Given the description of an element on the screen output the (x, y) to click on. 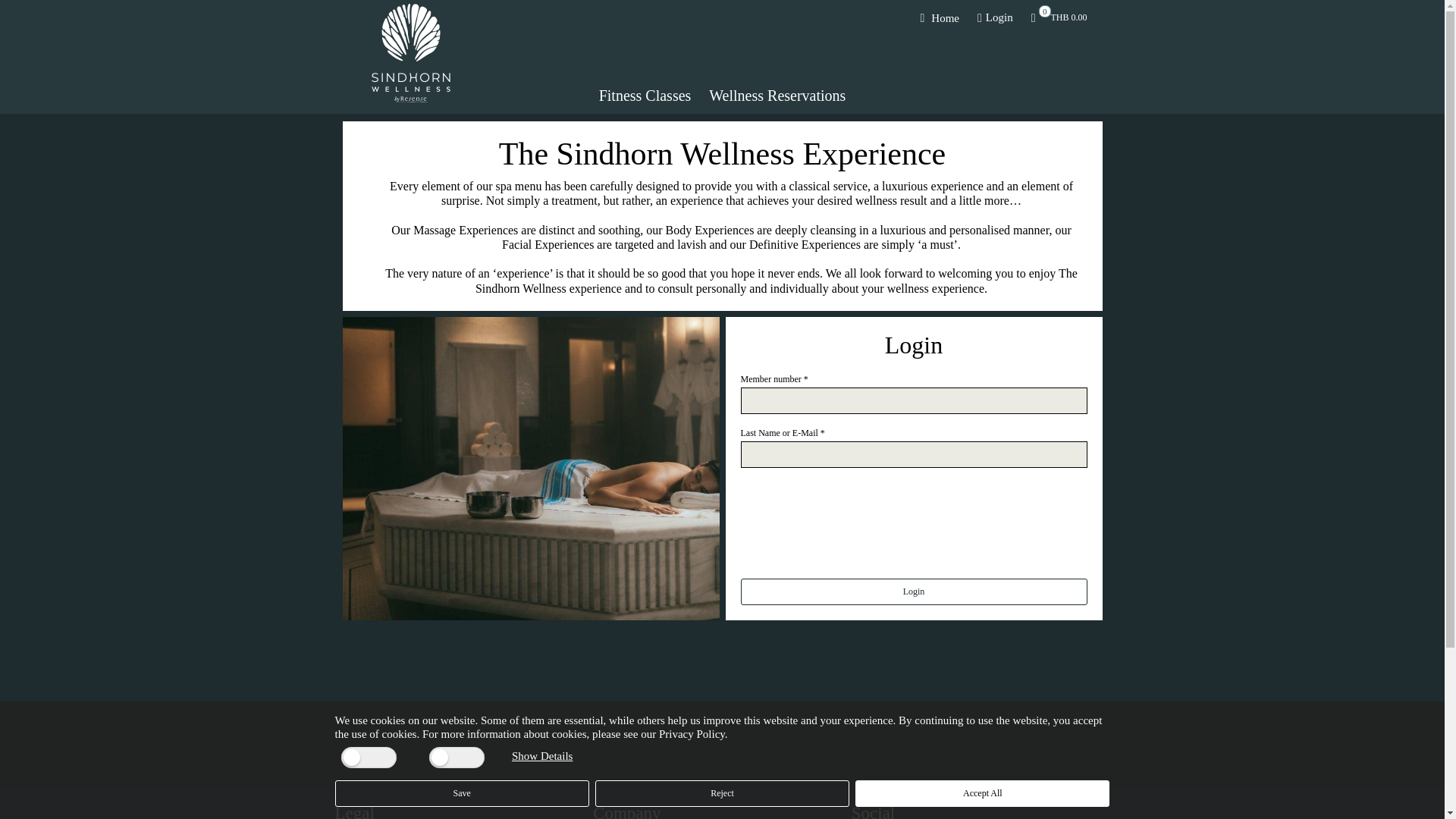
Login (994, 18)
Show Details (1058, 18)
Wellness Reservations (542, 756)
Home (777, 95)
Fitness Classes (939, 18)
